Given the description of an element on the screen output the (x, y) to click on. 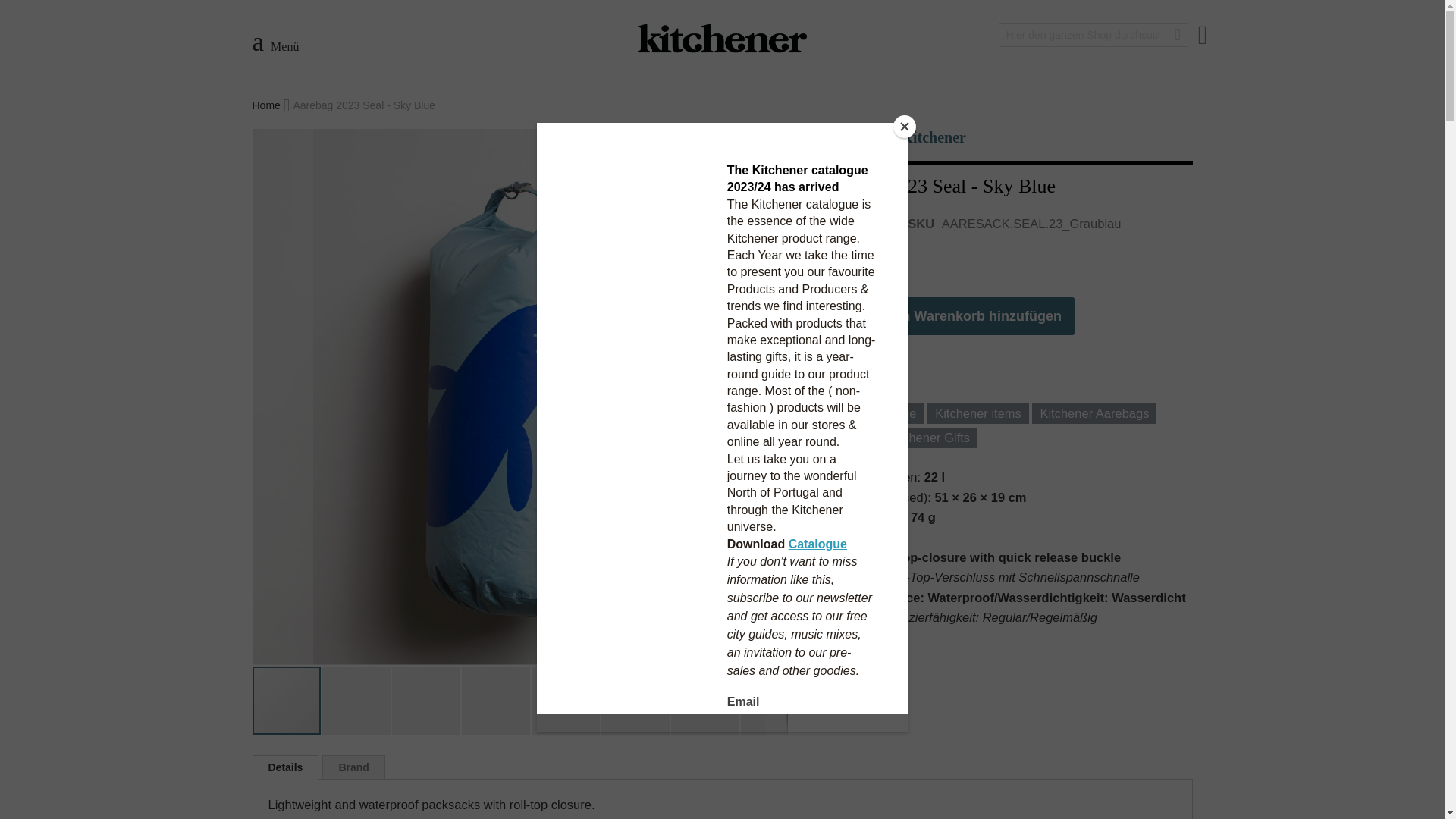
Anzahl (835, 314)
Zur Homepage (266, 105)
1 (835, 314)
